Given the description of an element on the screen output the (x, y) to click on. 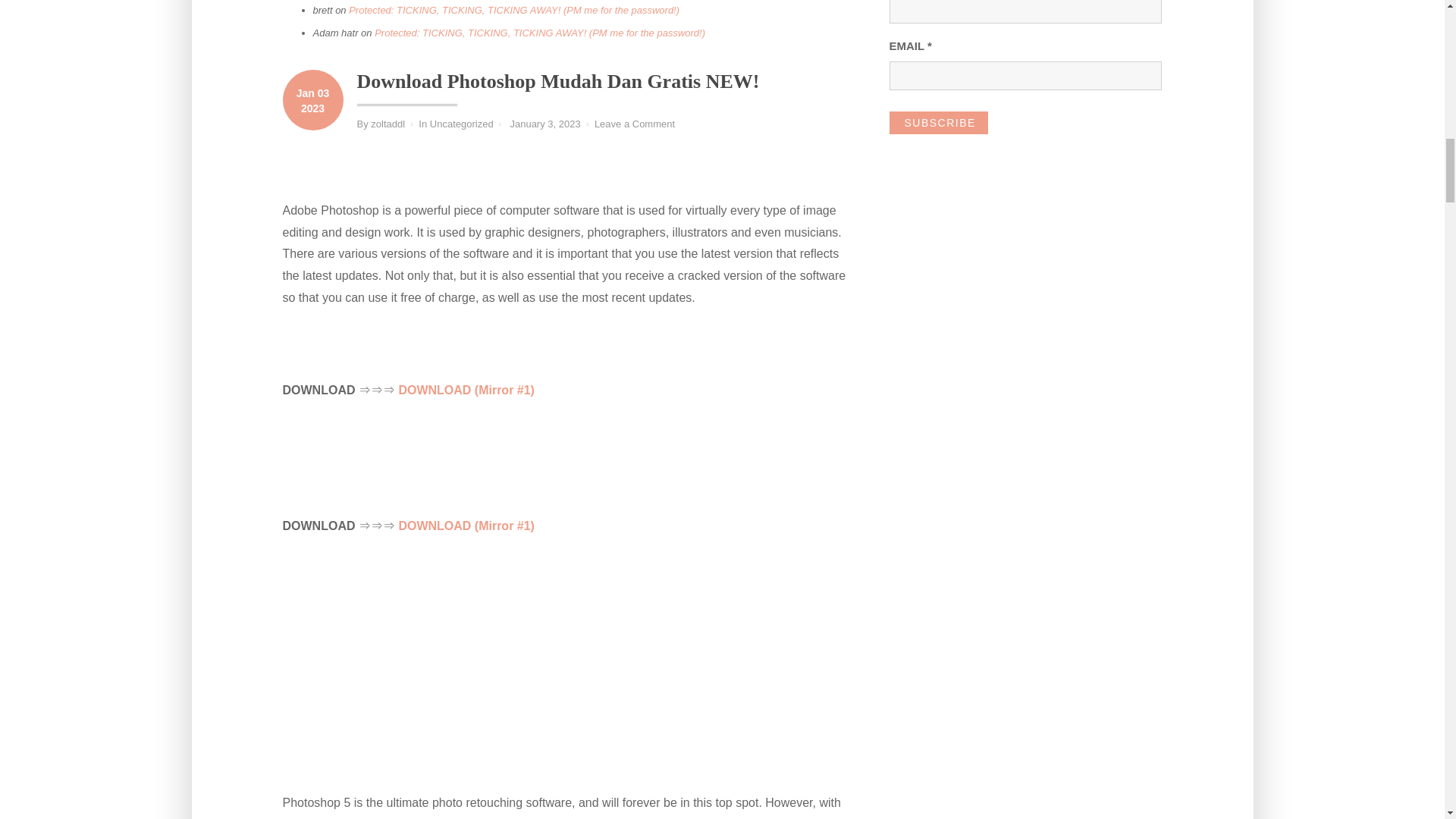
Uncategorized (461, 123)
Subscribe (937, 122)
zoltaddl (387, 123)
January 3, 2023 (544, 123)
